Given the description of an element on the screen output the (x, y) to click on. 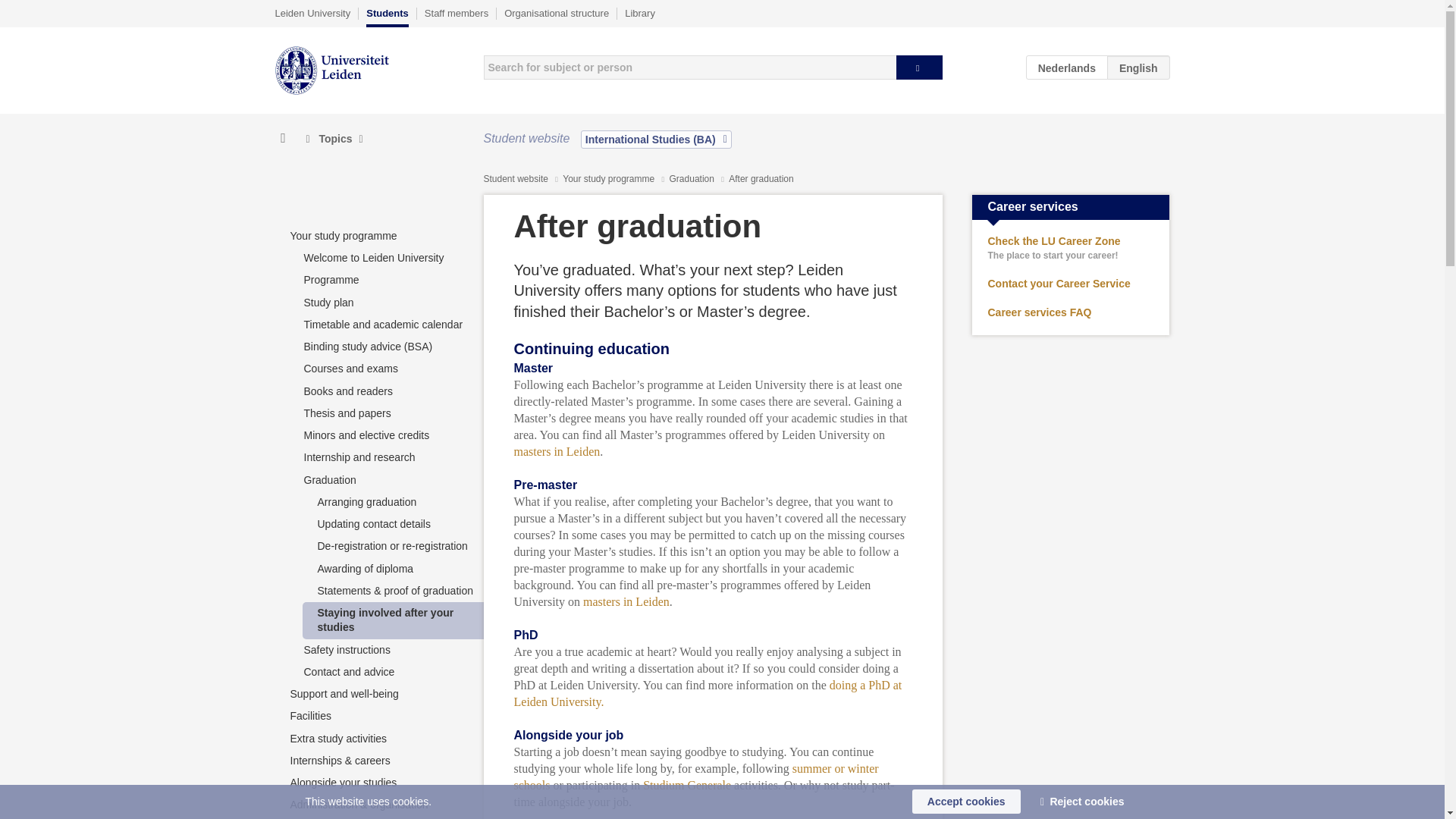
Study plan  (327, 302)
Books and readers (347, 390)
Courses and exams (349, 368)
Books and readers (347, 390)
Students (387, 17)
Topics (333, 139)
Leiden University (312, 13)
Timetable and academic calendar (382, 324)
Courses and exams (349, 368)
Student website (515, 178)
NL (1067, 67)
Your study programme (609, 178)
Organisational structure (555, 13)
Minors and elective credits (365, 435)
Study plan (327, 302)
